Given the description of an element on the screen output the (x, y) to click on. 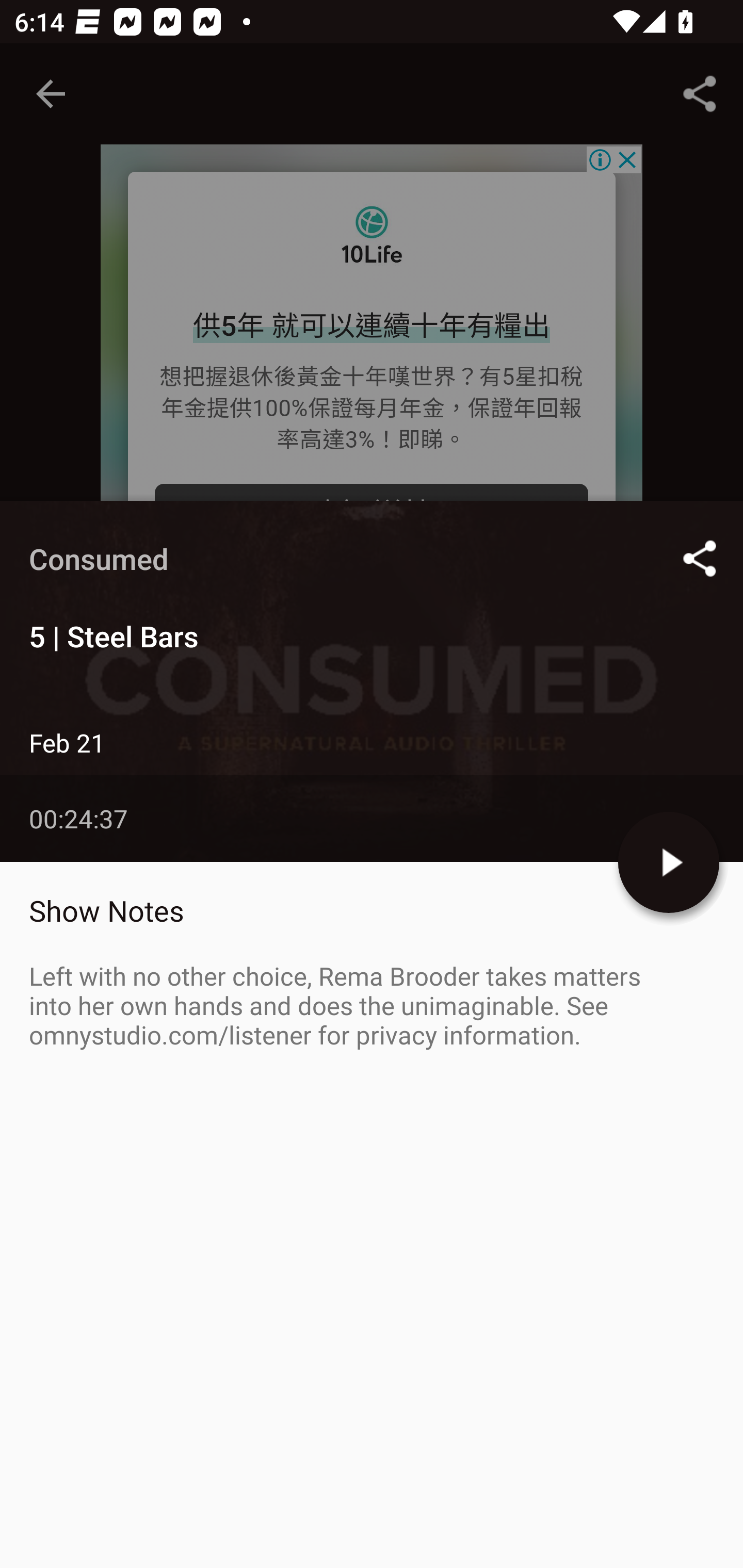
Consumed 5 | Steel Bars Feb 21 00:24:37 (371, 681)
